Given the description of an element on the screen output the (x, y) to click on. 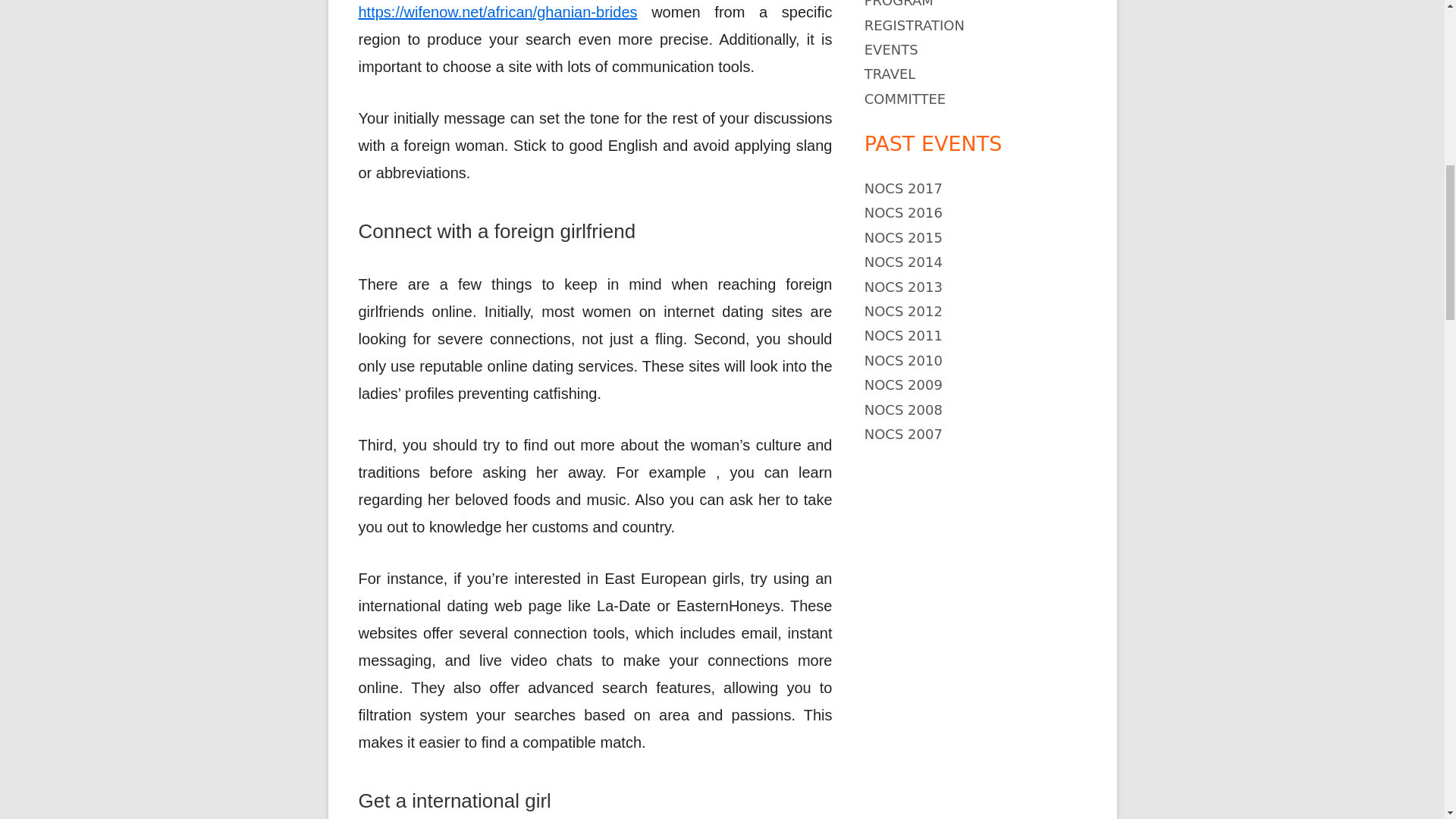
COMMITTEE (905, 98)
TRAVEL (889, 73)
NOCS 2011 (903, 335)
NOCS 2012 (903, 311)
NOCS 2016 (903, 212)
EVENTS (891, 49)
REGISTRATION (913, 25)
NOCS 2017 (903, 188)
NOCS 2015 (903, 237)
PROGRAM (898, 4)
